Given the description of an element on the screen output the (x, y) to click on. 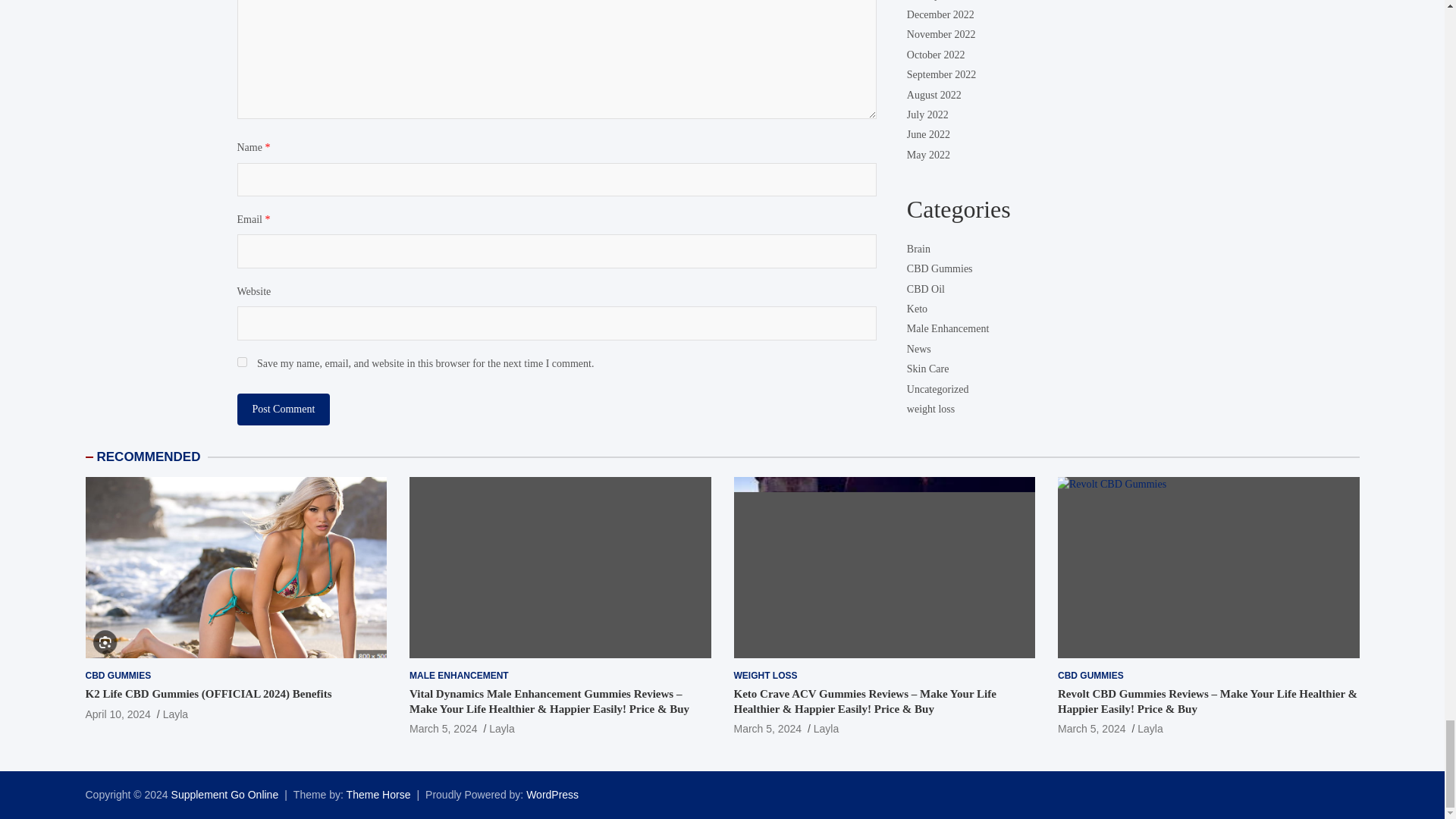
Post Comment (282, 409)
Theme Horse (378, 794)
Supplement Go Online (225, 794)
yes (240, 361)
WordPress (551, 794)
